Given the description of an element on the screen output the (x, y) to click on. 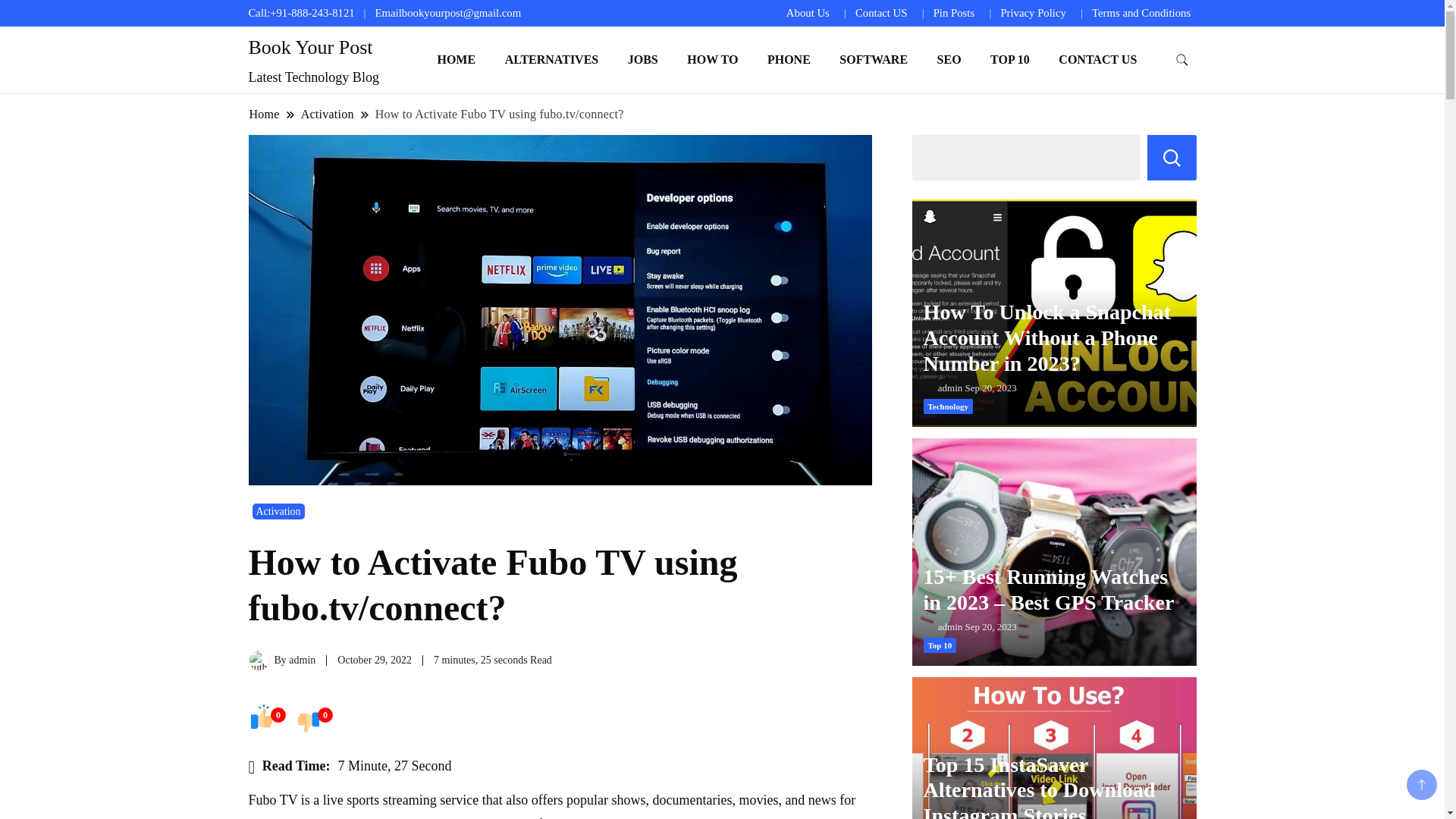
CONTACT US (1097, 59)
TOP 10 (1009, 59)
SOFTWARE (873, 59)
admin (301, 659)
Activation (327, 114)
Home (264, 114)
Terms and Conditions (1141, 12)
HOME (455, 59)
Book Your Post (310, 47)
Contact US (881, 12)
